Given the description of an element on the screen output the (x, y) to click on. 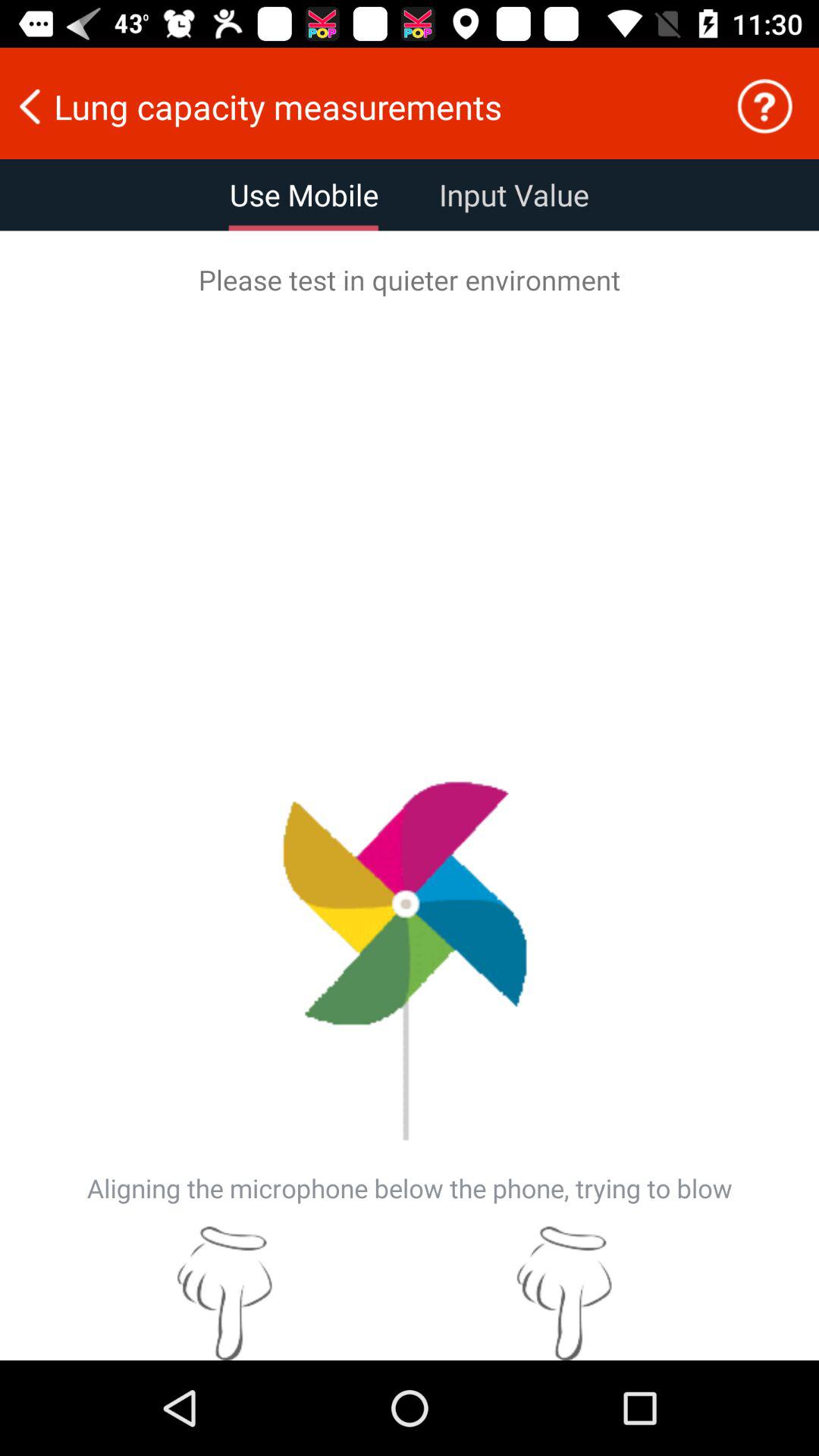
flip to the input value icon (513, 194)
